Given the description of an element on the screen output the (x, y) to click on. 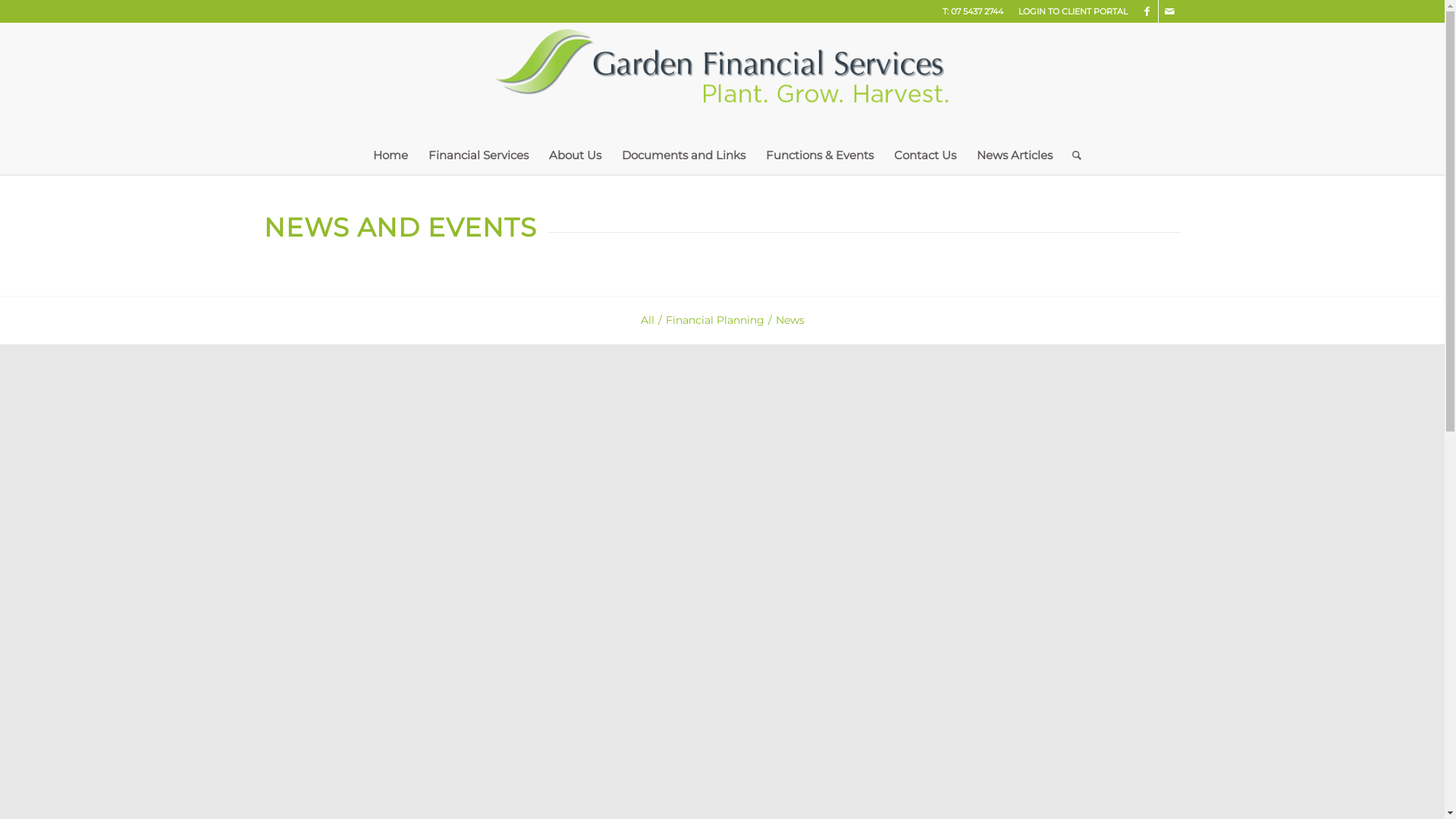
Home Element type: text (390, 155)
About Us Element type: text (574, 155)
Facebook Element type: hover (1146, 11)
Functions & Events Element type: text (819, 155)
Financial Planning Element type: text (714, 320)
News Articles Element type: text (1014, 155)
Documents and Links Element type: text (683, 155)
News Element type: text (789, 320)
All Element type: text (646, 320)
Mail Element type: hover (1169, 11)
Financial Services Element type: text (477, 155)
LOGIN TO CLIENT PORTAL Element type: text (1071, 10)
Contact Us Element type: text (924, 155)
